Given the description of an element on the screen output the (x, y) to click on. 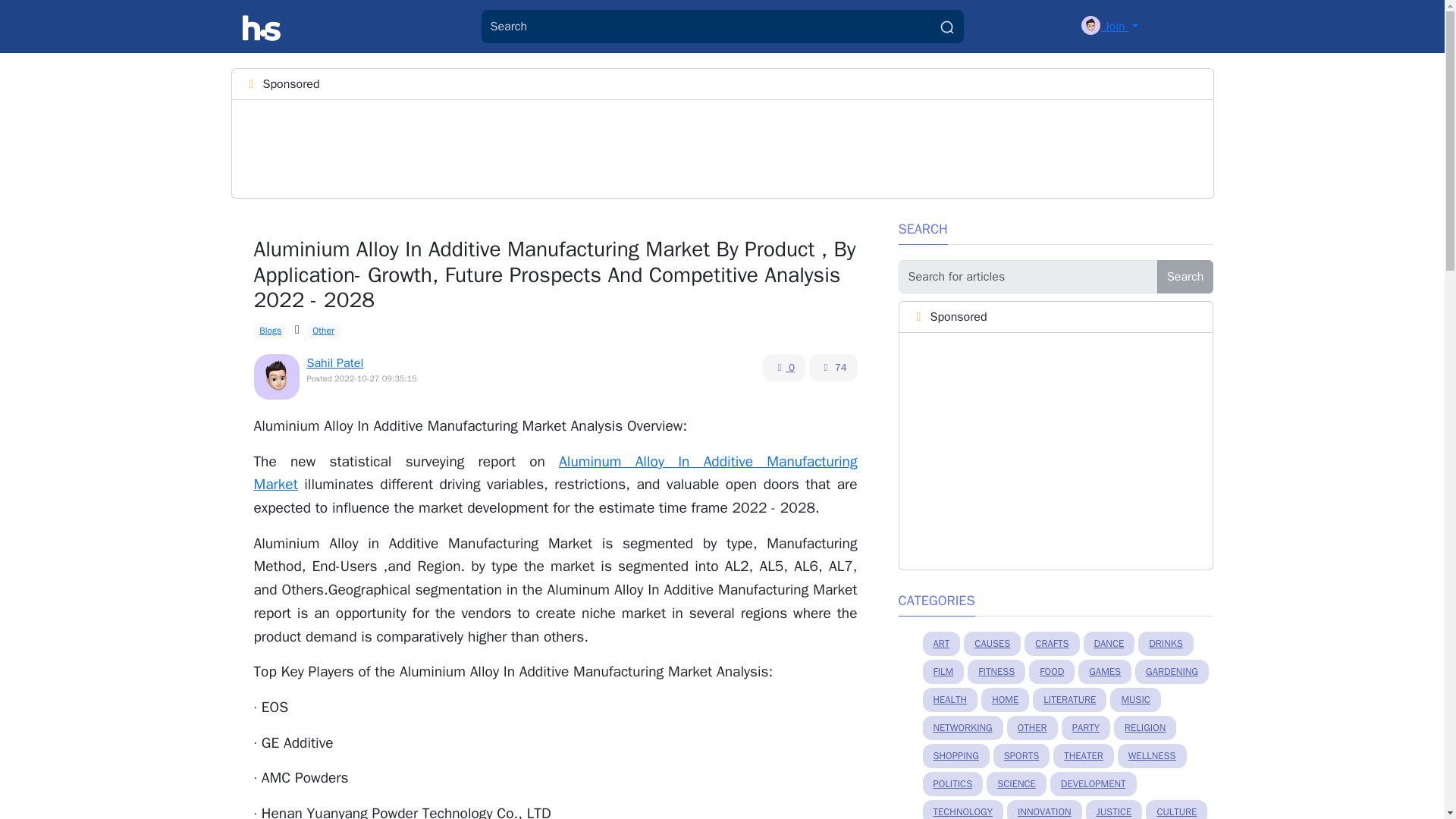
DRINKS (1165, 643)
Sahil Patel (333, 363)
DANCE (1108, 643)
Search (1185, 276)
Huduma Social (262, 27)
CAUSES (991, 643)
GAMES (1104, 671)
GARDENING (1171, 671)
FITNESS (996, 671)
FILM (942, 671)
Blogs (269, 330)
Other (323, 330)
CRAFTS (1051, 643)
0 (783, 367)
Advertisement (520, 146)
